Given the description of an element on the screen output the (x, y) to click on. 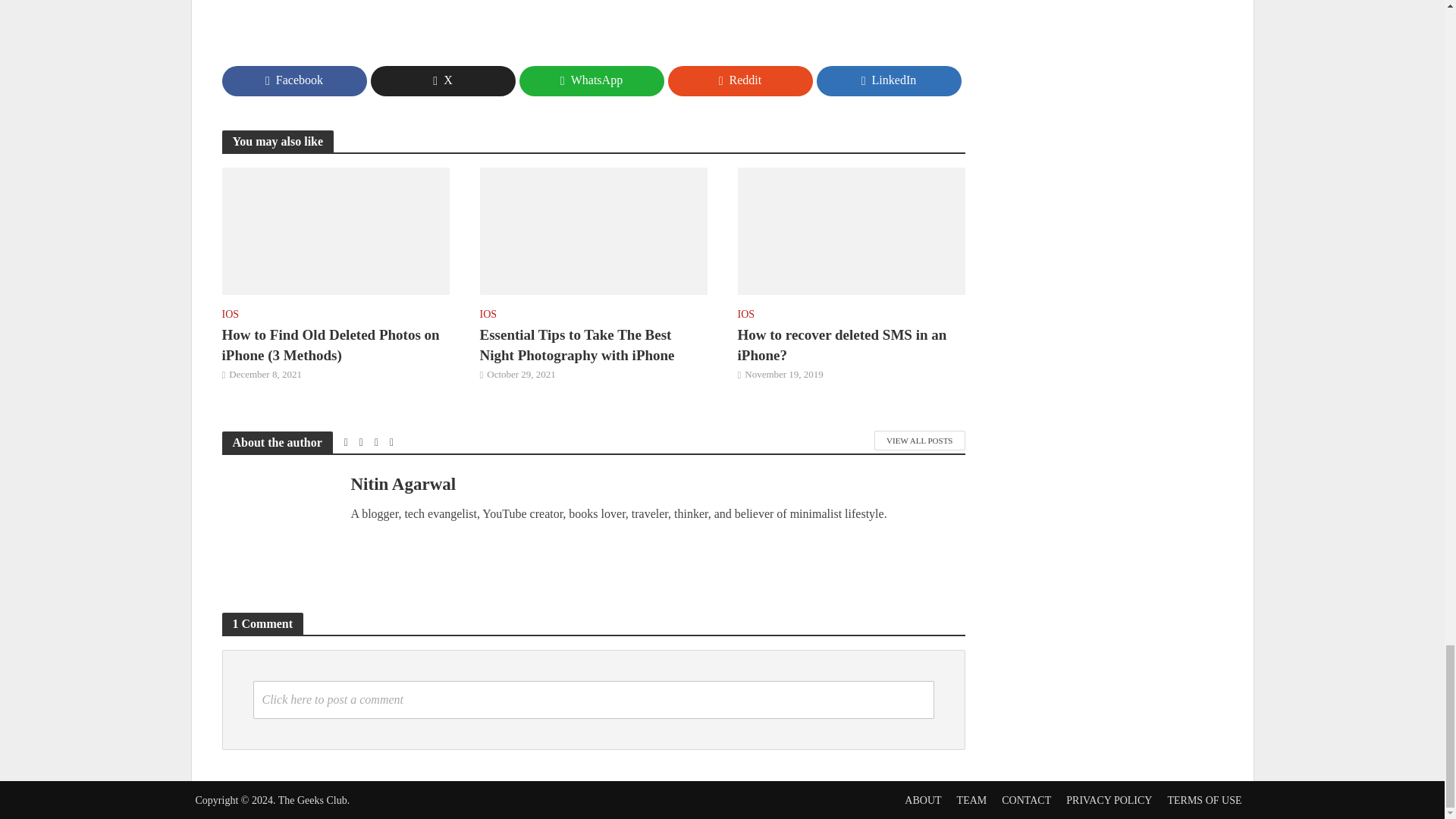
WhatsApp (590, 81)
IOS (229, 316)
X (442, 81)
LinkedIn (887, 81)
Reddit (739, 81)
Facebook (293, 81)
How to recover deleted SMS in an iPhone? (849, 229)
